Given the description of an element on the screen output the (x, y) to click on. 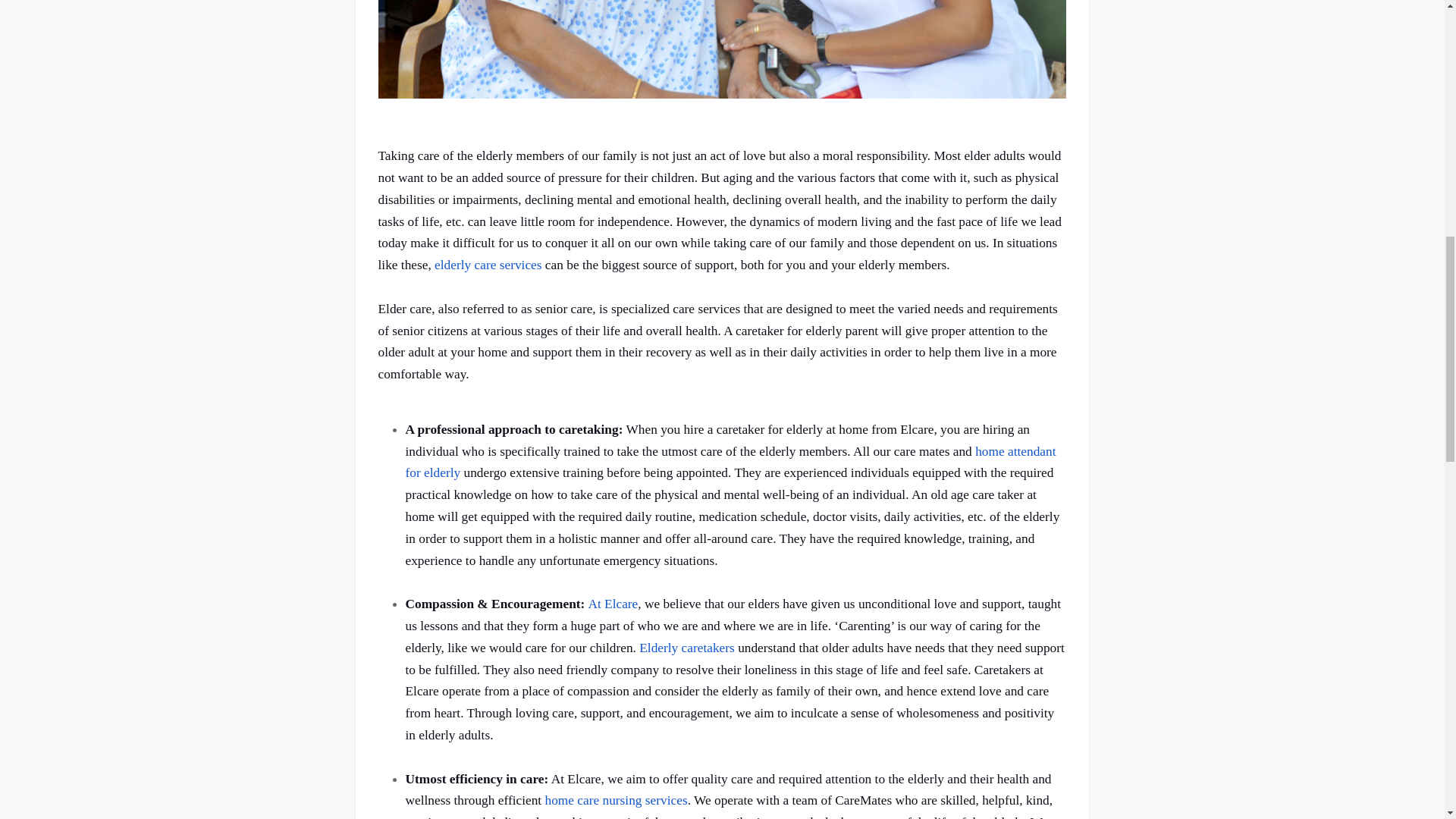
home care nursing services (615, 800)
home attendant for elderly (729, 462)
Elderly caretakers (687, 648)
At Elcare (612, 604)
elderly care services (487, 265)
